Given the description of an element on the screen output the (x, y) to click on. 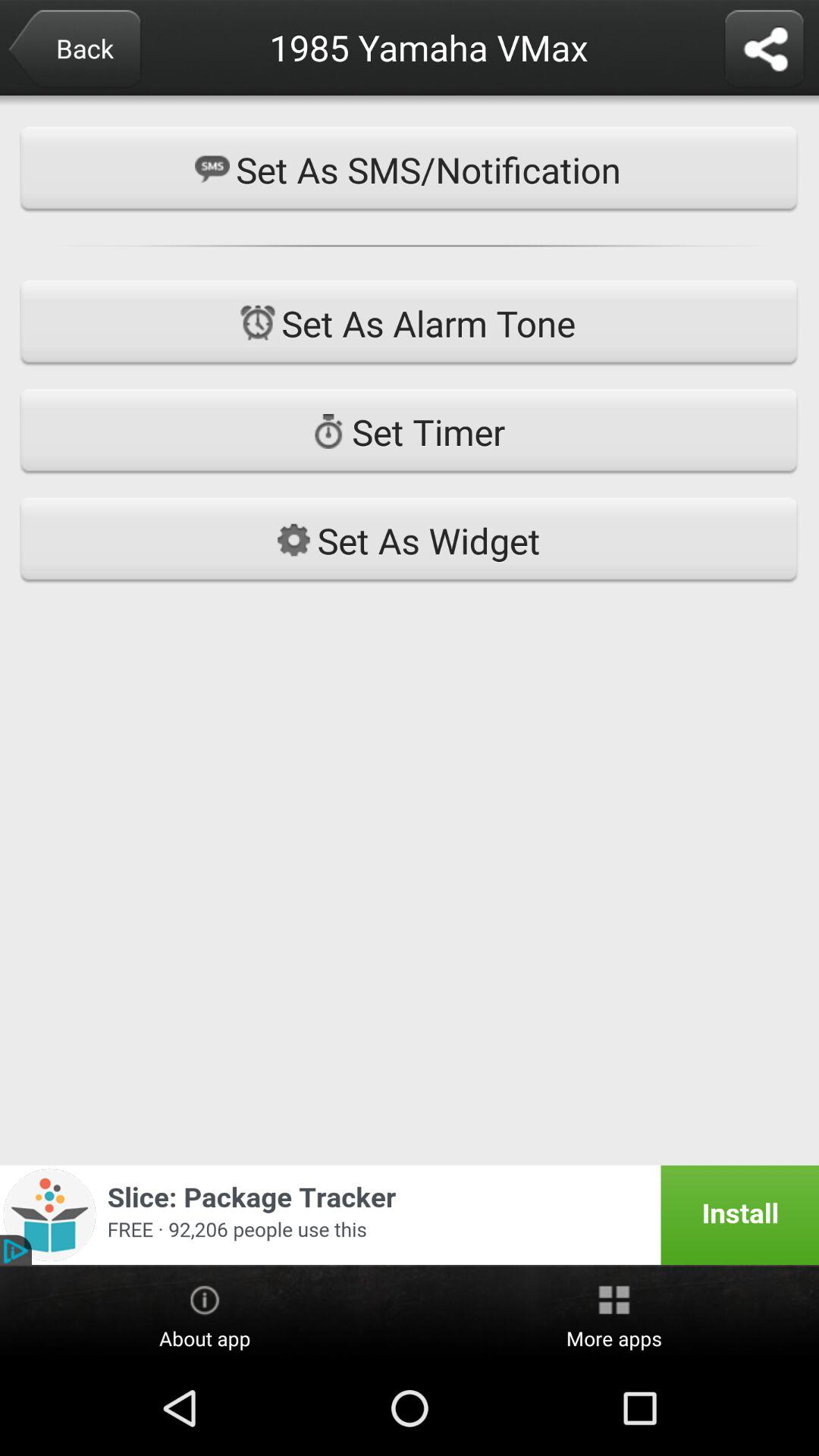
select the item next to the about app (614, 1314)
